Given the description of an element on the screen output the (x, y) to click on. 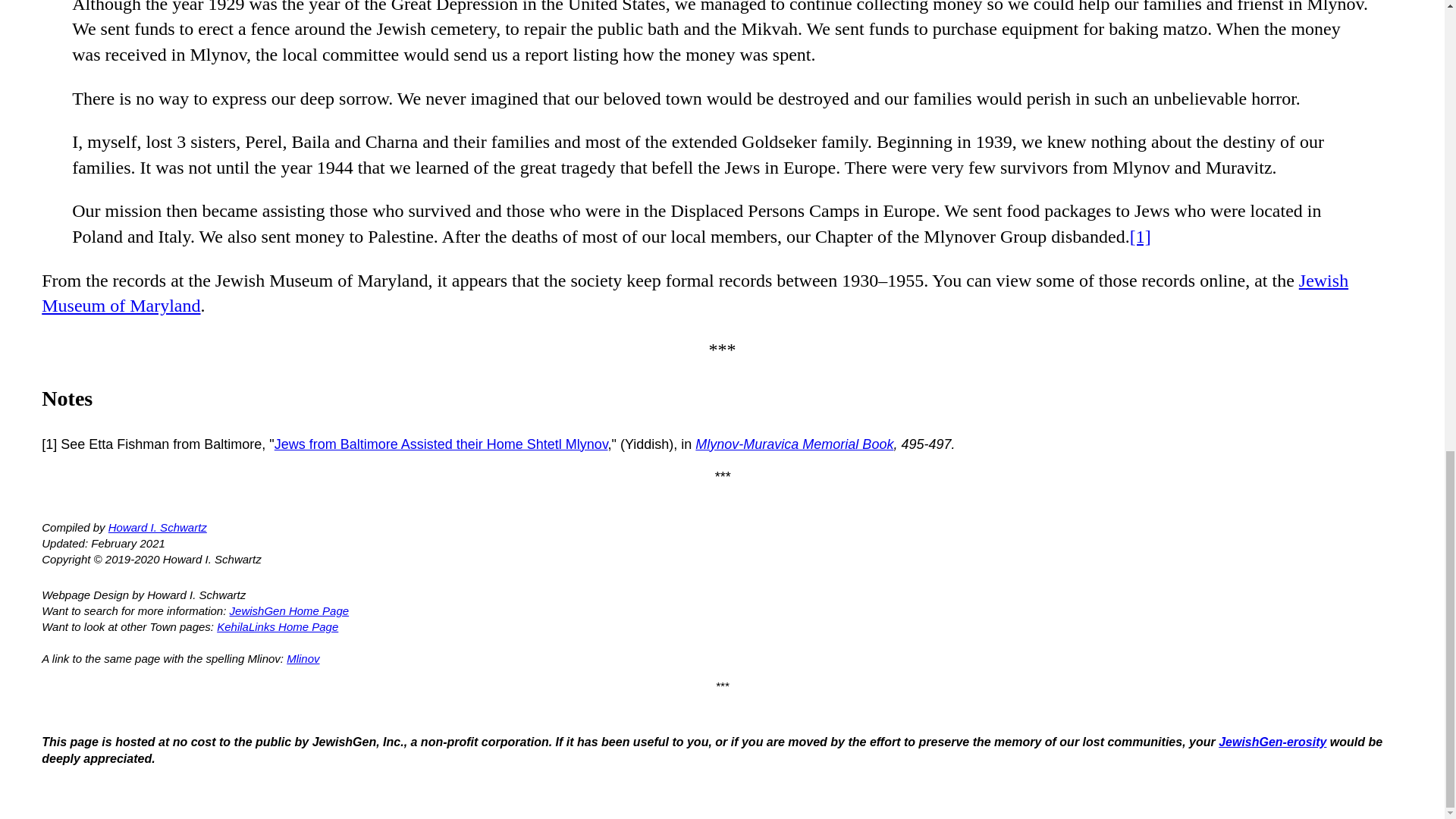
Mlynov-Muravica Memorial Book (794, 444)
JewishGen-erosity (1272, 741)
Howard I. Schwartz (156, 526)
JewishGen Home Page (289, 610)
Mlinov (302, 658)
Jews from Baltimore Assisted their Home Shtetl Mlynov (441, 444)
KehilaLinks Home Page (276, 626)
Jewish Museum of Maryland (695, 293)
